Given the description of an element on the screen output the (x, y) to click on. 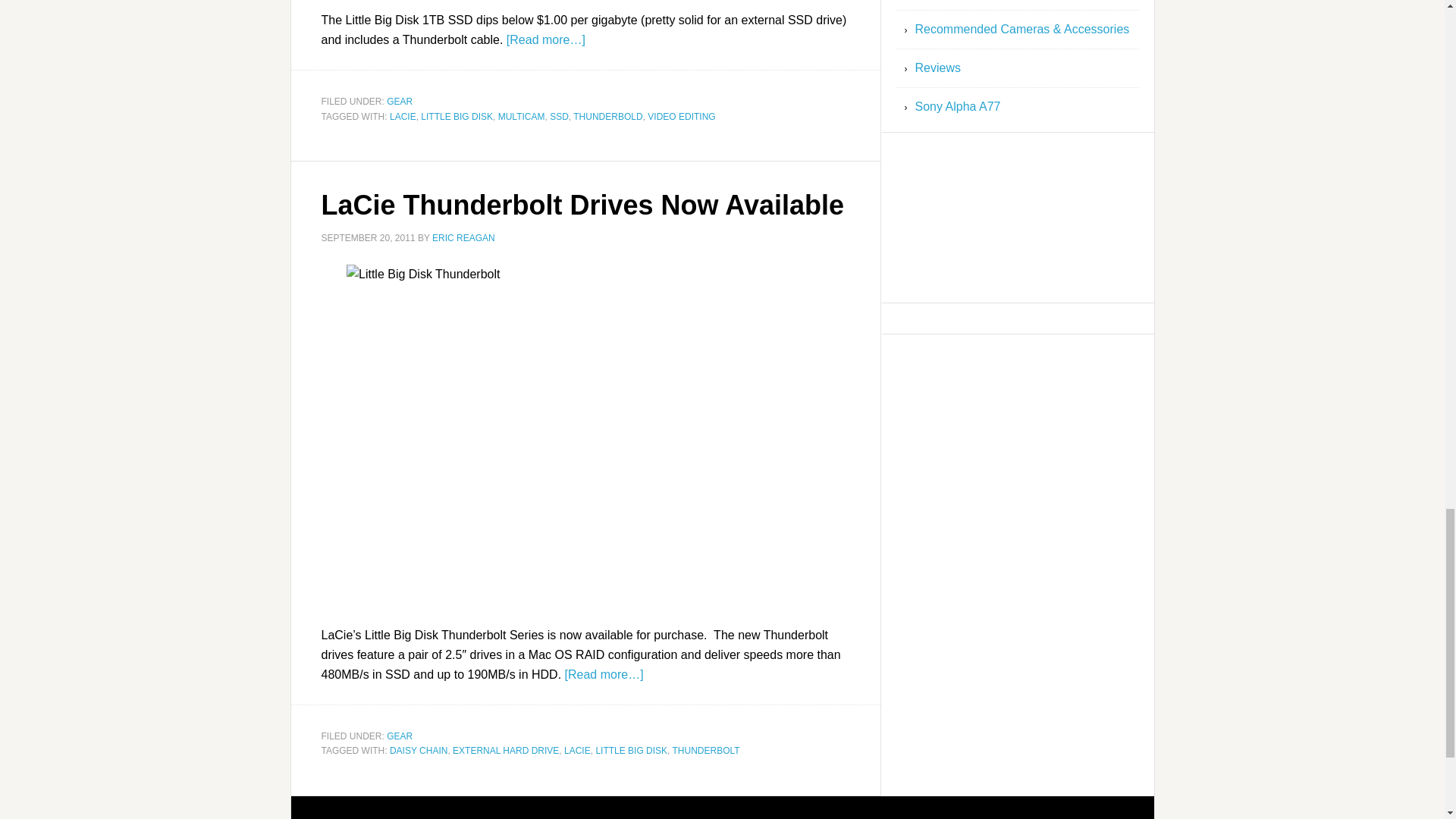
LaCie Thunderbolt Drives Now Available (582, 204)
ERIC REAGAN (463, 237)
THUNDERBOLT (705, 750)
LITTLE BIG DISK (630, 750)
SSD (559, 115)
LACIE (403, 115)
GEAR (399, 736)
LACIE (577, 750)
DAISY CHAIN (418, 750)
THUNDERBOLD (607, 115)
